Given the description of an element on the screen output the (x, y) to click on. 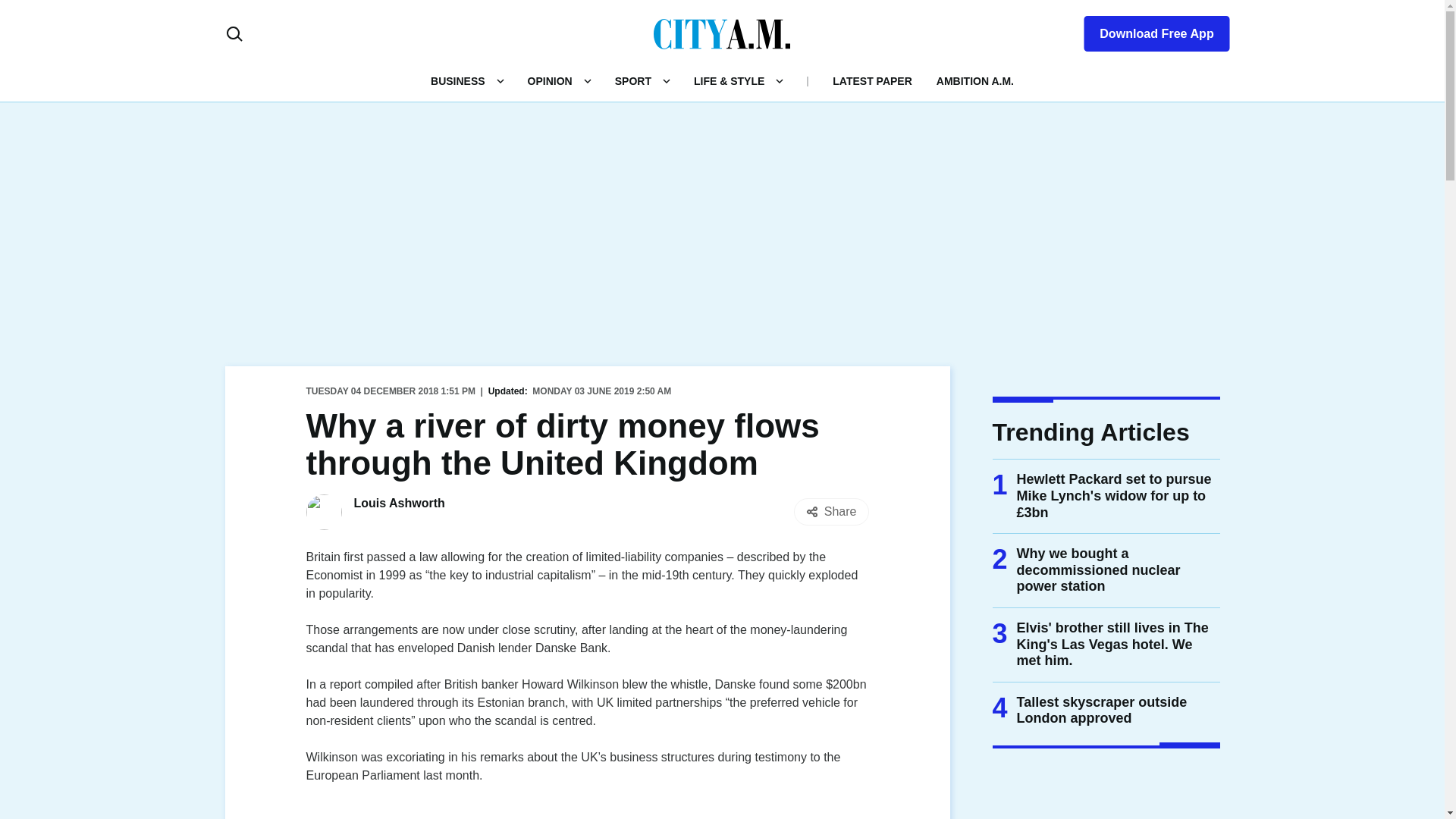
SPORT (632, 80)
OPINION (549, 80)
Download Free App (1146, 30)
BUSINESS (457, 80)
CityAM (721, 33)
